Given the description of an element on the screen output the (x, y) to click on. 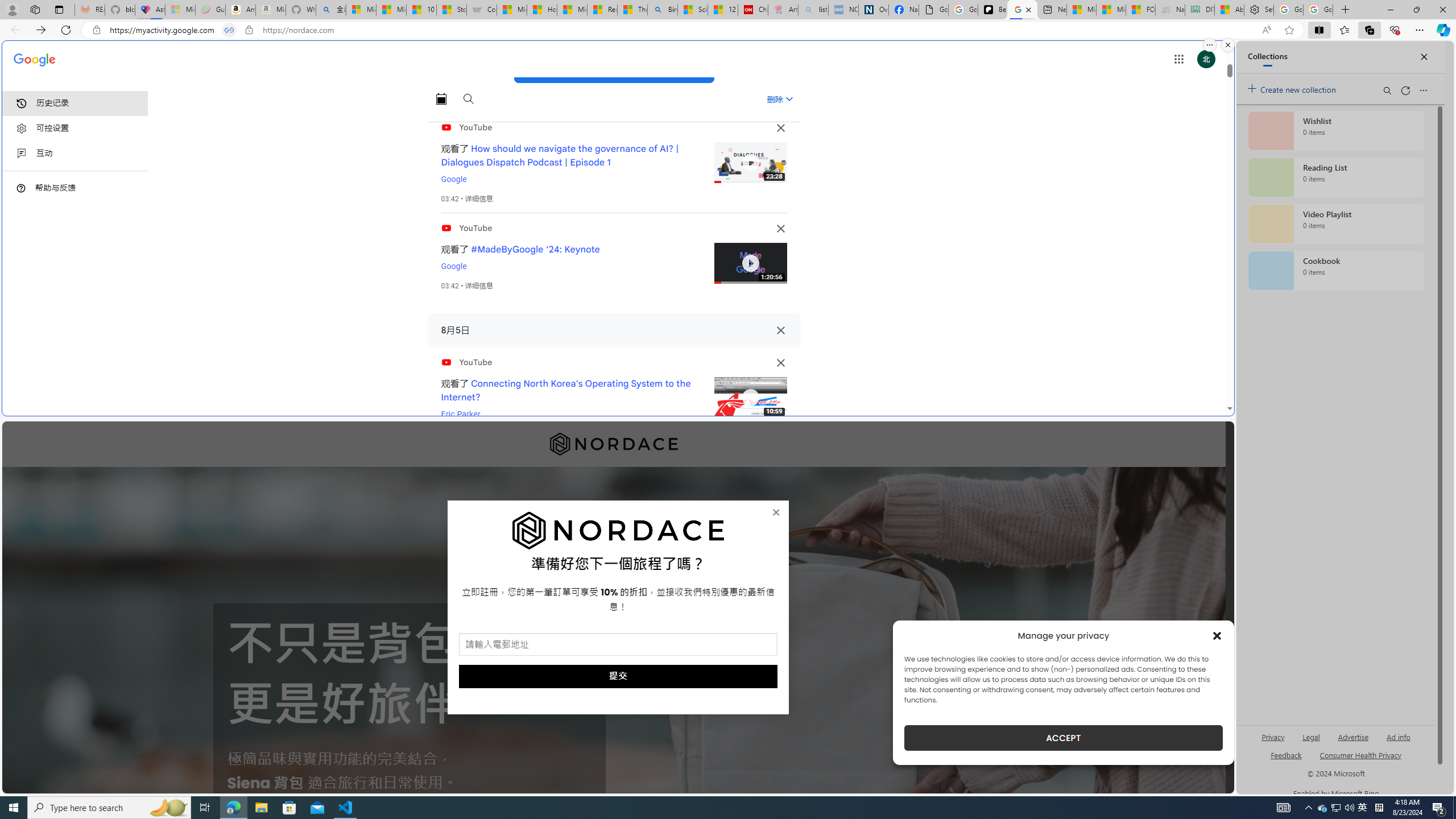
Eric Parker (460, 414)
Google Analytics Opt-out Browser Add-on Download Page (933, 9)
Stocks - MSN (450, 9)
Recipes - MSN (601, 9)
To get missing image descriptions, open the context menu. (617, 530)
Asthma Inhalers: Names and Types (149, 9)
Bing (662, 9)
